Given the description of an element on the screen output the (x, y) to click on. 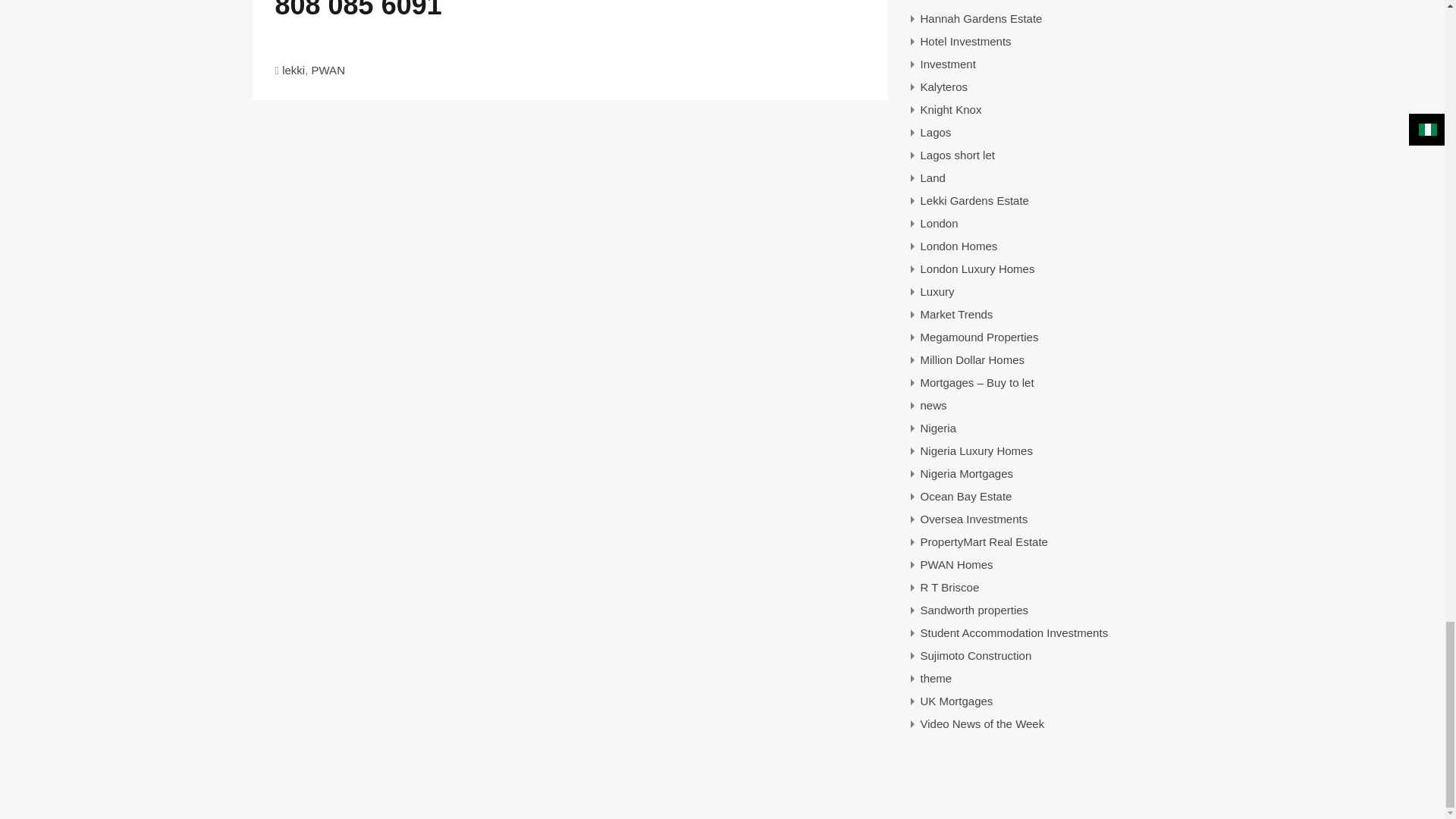
PWAN (328, 69)
lekki (293, 69)
